Given the description of an element on the screen output the (x, y) to click on. 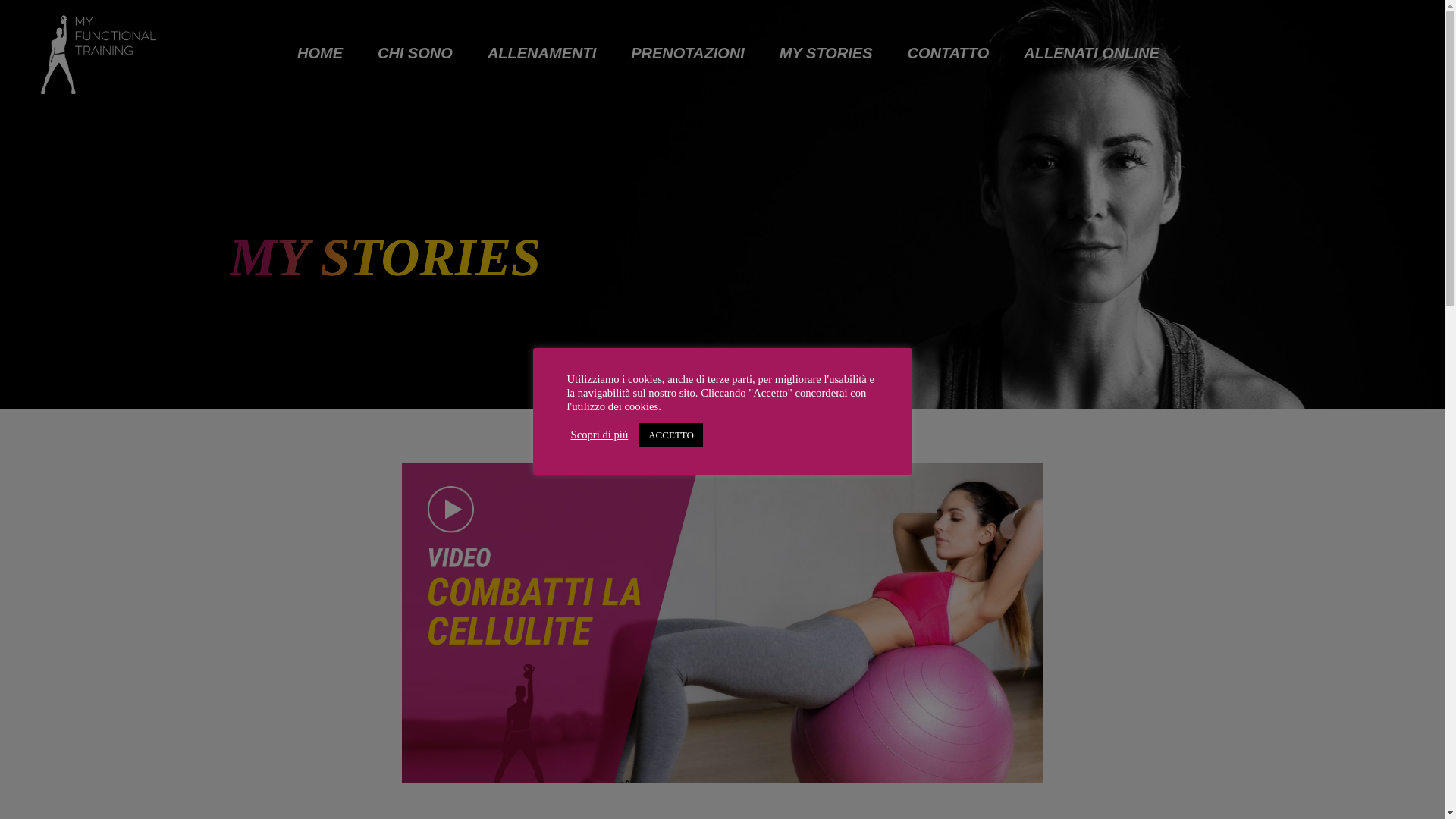
HOME (319, 53)
CHI SONO (414, 53)
MY STORIES (825, 53)
CONTATTO (947, 53)
ALLENAMENTI (541, 53)
ALLENATI ONLINE (1091, 53)
PRENOTAZIONI (686, 53)
